Given the description of an element on the screen output the (x, y) to click on. 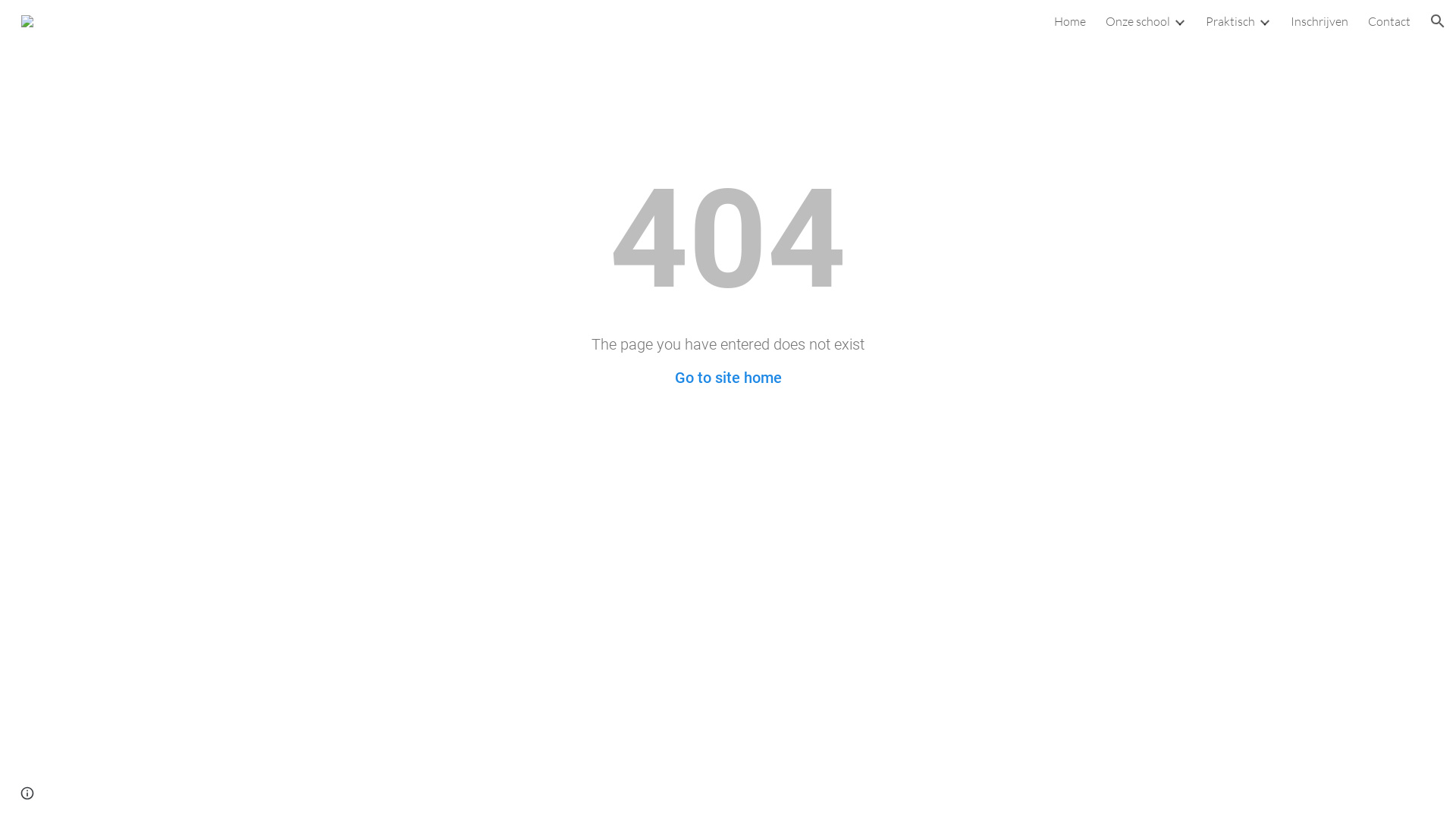
Expand/Collapse Element type: hover (1263, 20)
Inschrijven Element type: text (1319, 20)
Praktisch Element type: text (1230, 20)
Contact Element type: text (1389, 20)
Onze school Element type: text (1137, 20)
Go to site home Element type: text (727, 377)
Home Element type: text (1069, 20)
Expand/Collapse Element type: hover (1179, 20)
